Given the description of an element on the screen output the (x, y) to click on. 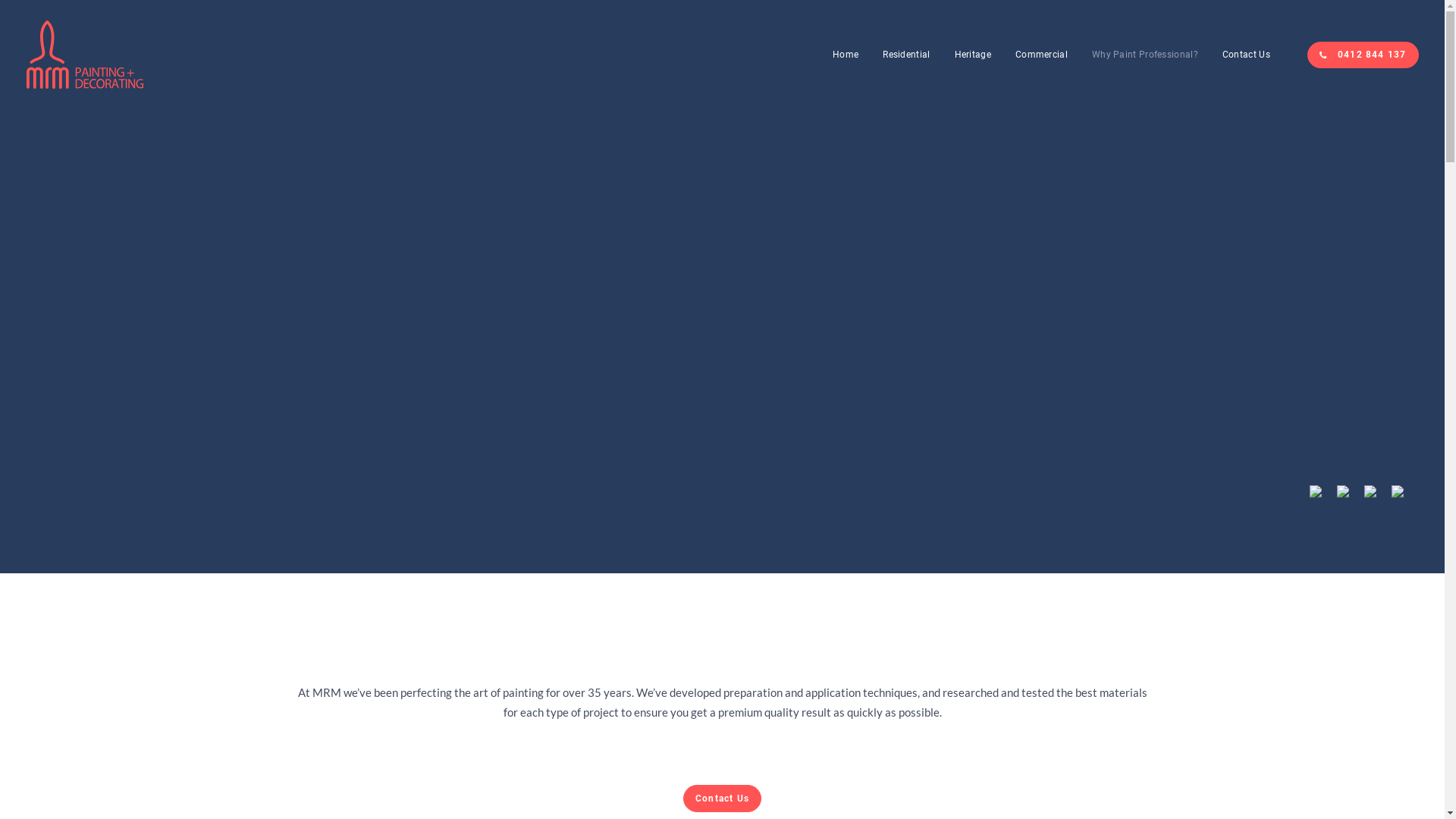
Heritage Element type: text (972, 54)
Why Paint Professional? Element type: text (1144, 54)
Contact Us Element type: text (1240, 54)
Residential Element type: text (906, 54)
Home Element type: text (845, 54)
Commercial Element type: text (1041, 54)
Contact Us Element type: text (722, 797)
0412 844 137 Element type: text (1362, 53)
